Given the description of an element on the screen output the (x, y) to click on. 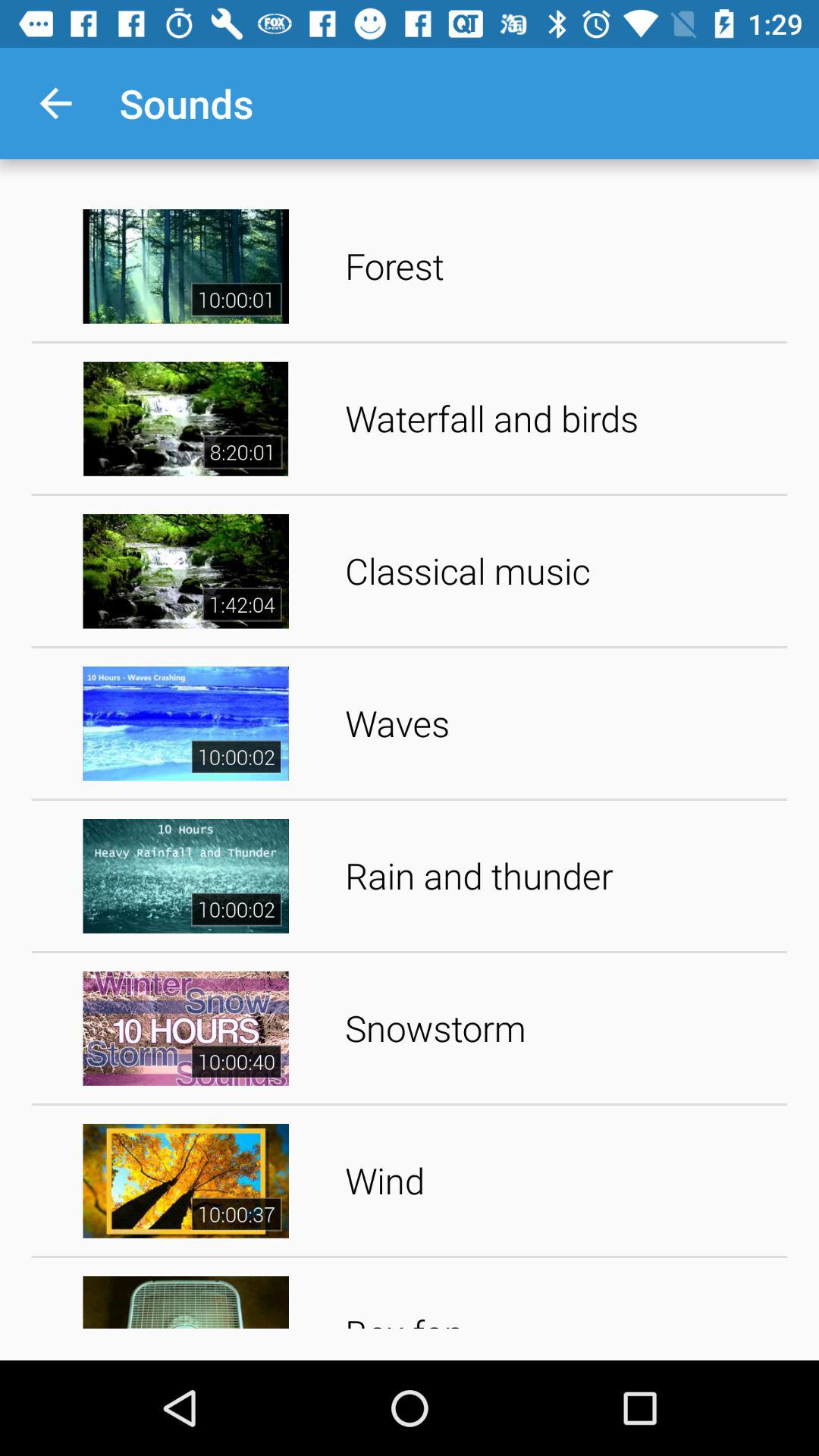
scroll until box fan item (560, 1298)
